Given the description of an element on the screen output the (x, y) to click on. 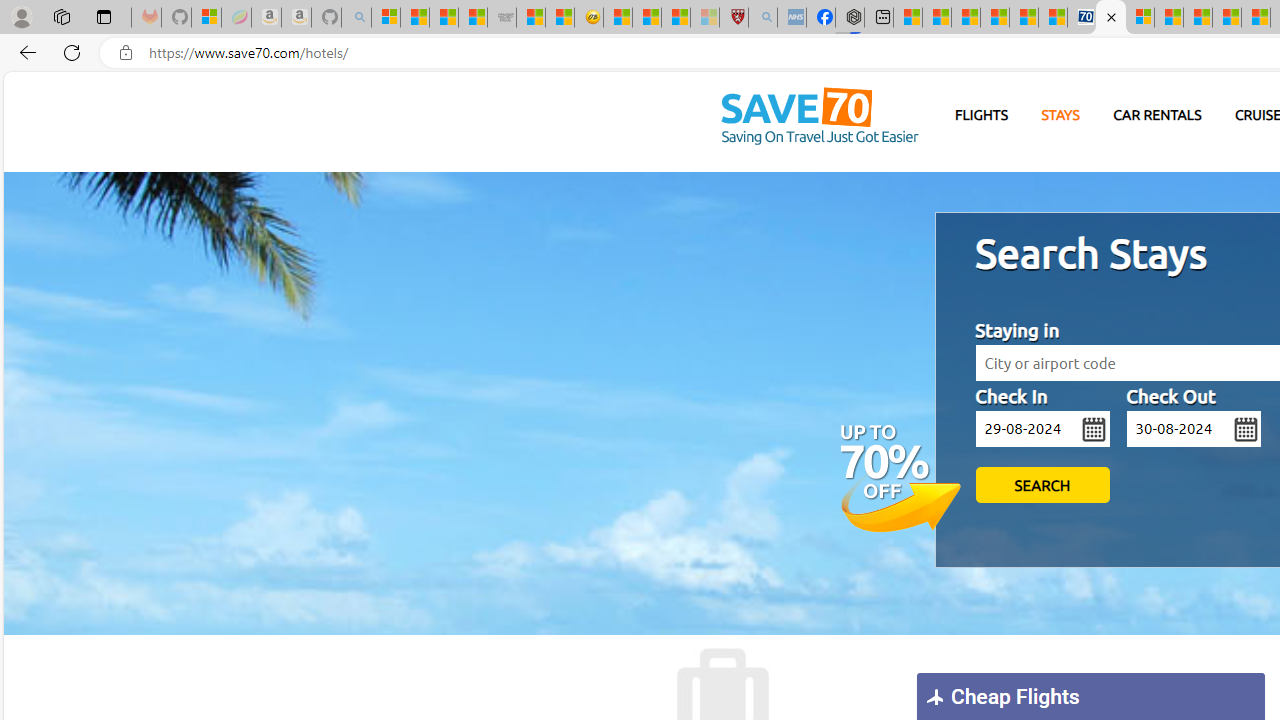
Homepage (819, 116)
Homepage (819, 117)
Cheap Car Rentals - Save70.com (1081, 17)
12 Popular Science Lies that Must be Corrected - Sleeping (705, 17)
FLIGHTS (981, 115)
